Given the description of an element on the screen output the (x, y) to click on. 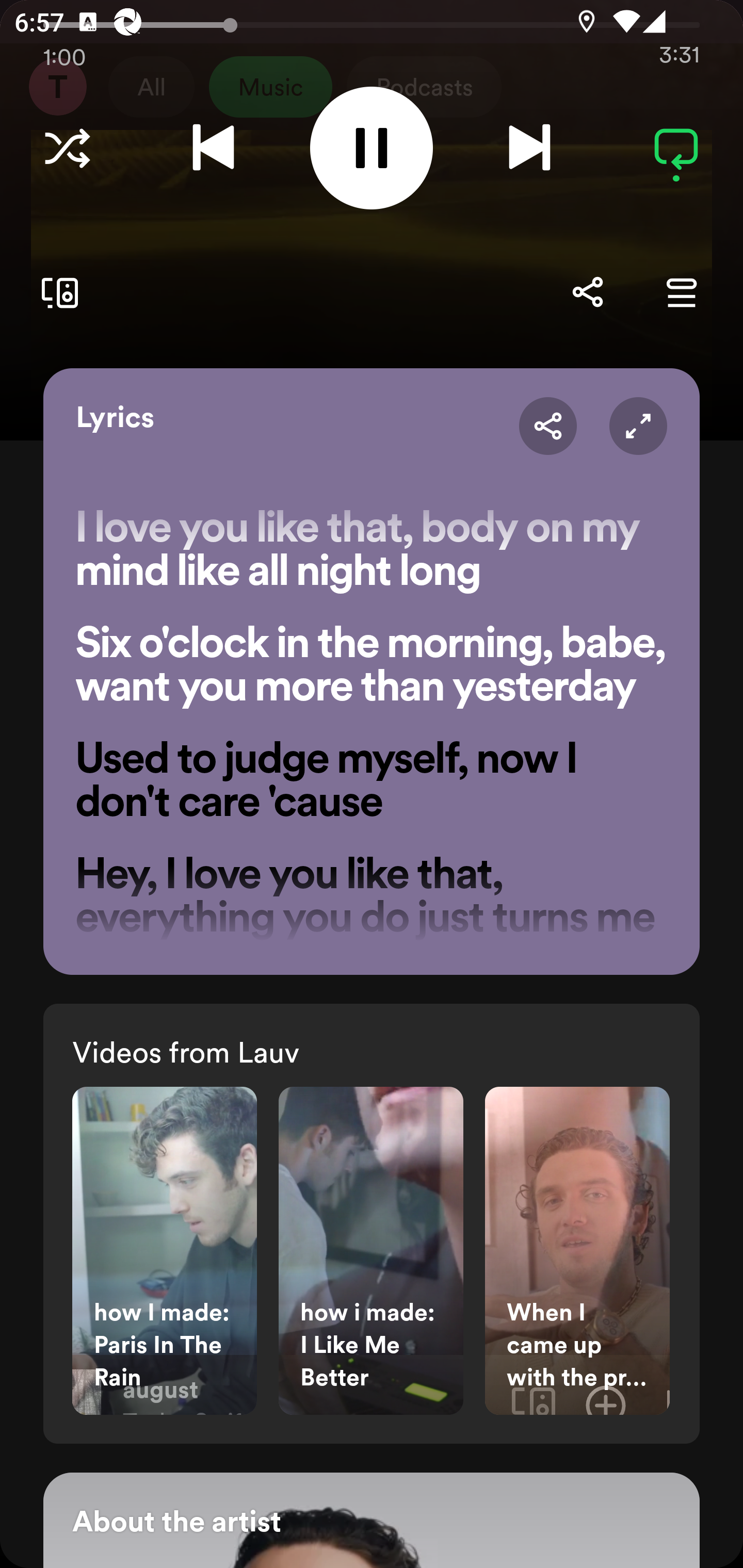
Pause (371, 148)
Previous (212, 147)
Next (529, 147)
Choose a Listening Mode (66, 147)
Repeat (676, 147)
Share (587, 292)
Go to Queue (681, 292)
Connect to a device. Opens the devices menu (55, 291)
Share (547, 425)
Expand (638, 425)
how I made: Paris In The Rain (164, 1250)
how i made: I Like Me Better (370, 1250)
